Given the description of an element on the screen output the (x, y) to click on. 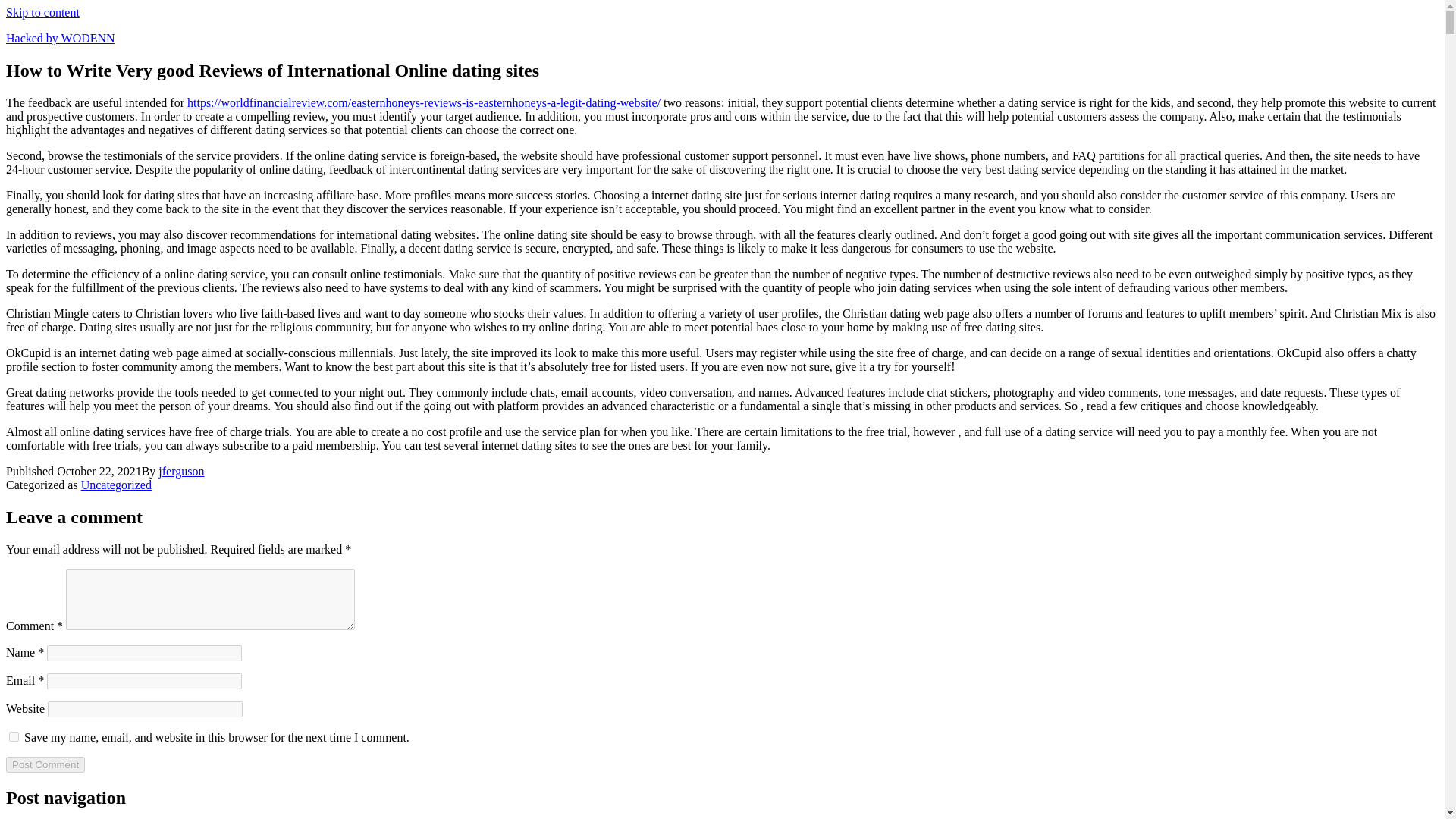
Uncategorized (116, 484)
yes (13, 737)
Post Comment (44, 764)
Post Comment (44, 764)
Skip to content (42, 11)
jferguson (180, 471)
Hacked by WODENN (60, 38)
